Given the description of an element on the screen output the (x, y) to click on. 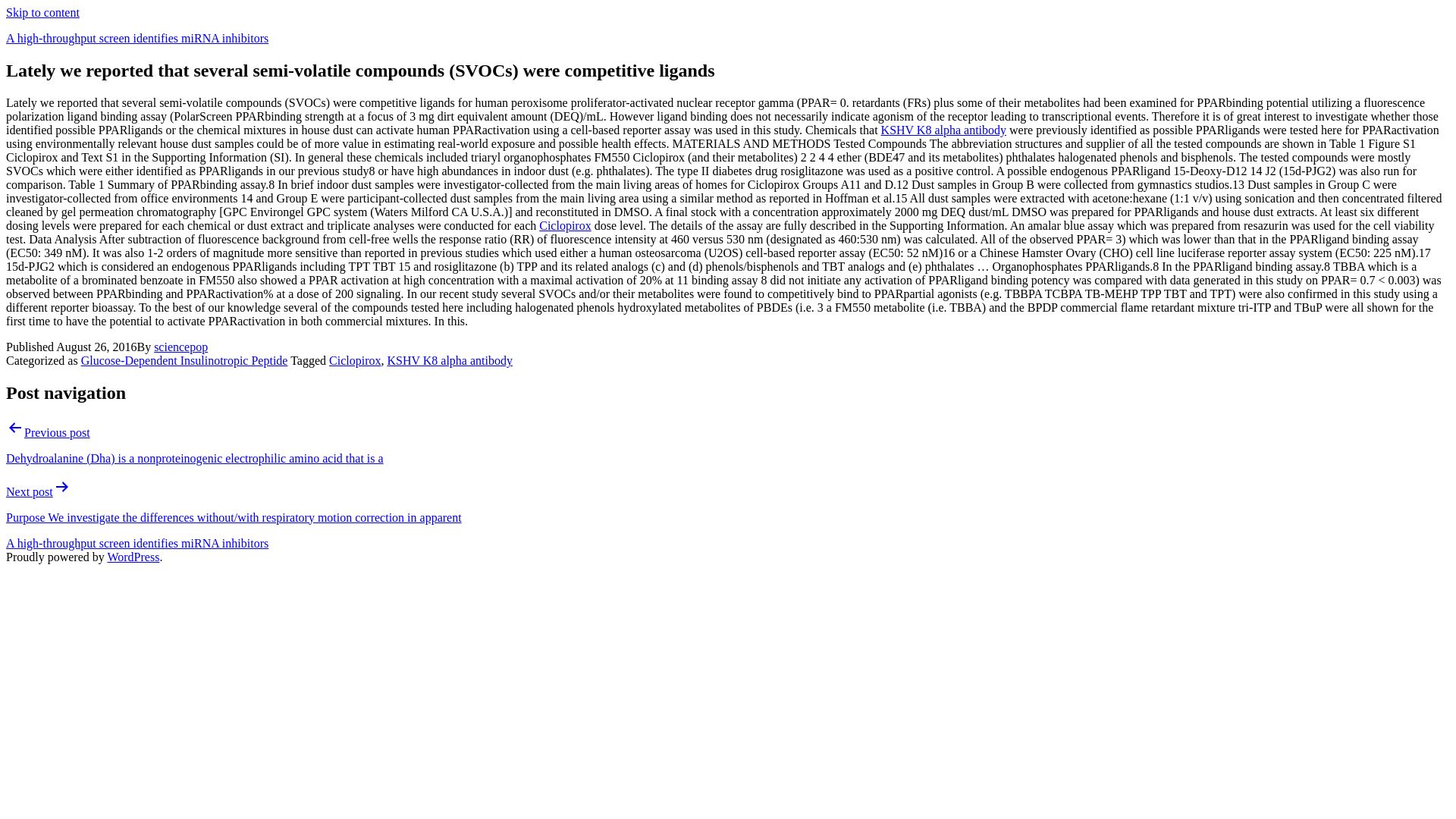
sciencepop (181, 346)
Ciclopirox (354, 359)
A high-throughput screen identifies miRNA inhibitors (136, 38)
Ciclopirox (564, 225)
KSHV K8 alpha antibody (449, 359)
KSHV K8 alpha antibody (943, 129)
A high-throughput screen identifies miRNA inhibitors (136, 543)
Glucose-Dependent Insulinotropic Peptide (184, 359)
Skip to content (42, 11)
